Given the description of an element on the screen output the (x, y) to click on. 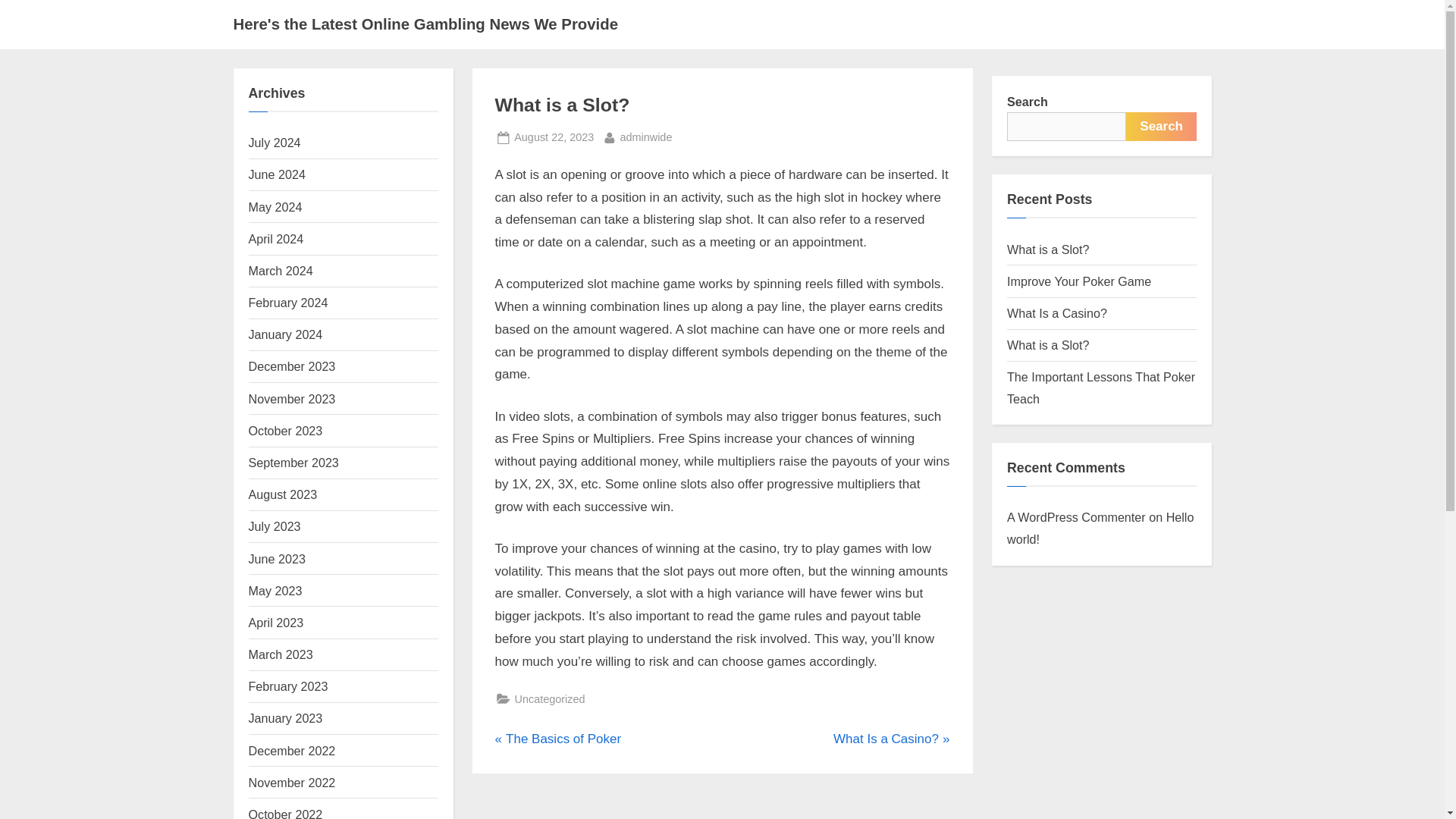
December 2023 (292, 366)
November 2023 (292, 398)
Uncategorized (645, 137)
January 2023 (549, 699)
July 2023 (285, 717)
November 2022 (274, 526)
July 2024 (292, 782)
February 2024 (274, 142)
August 2023 (288, 302)
April 2024 (890, 739)
June 2024 (282, 494)
May 2023 (276, 238)
March 2023 (276, 173)
